Given the description of an element on the screen output the (x, y) to click on. 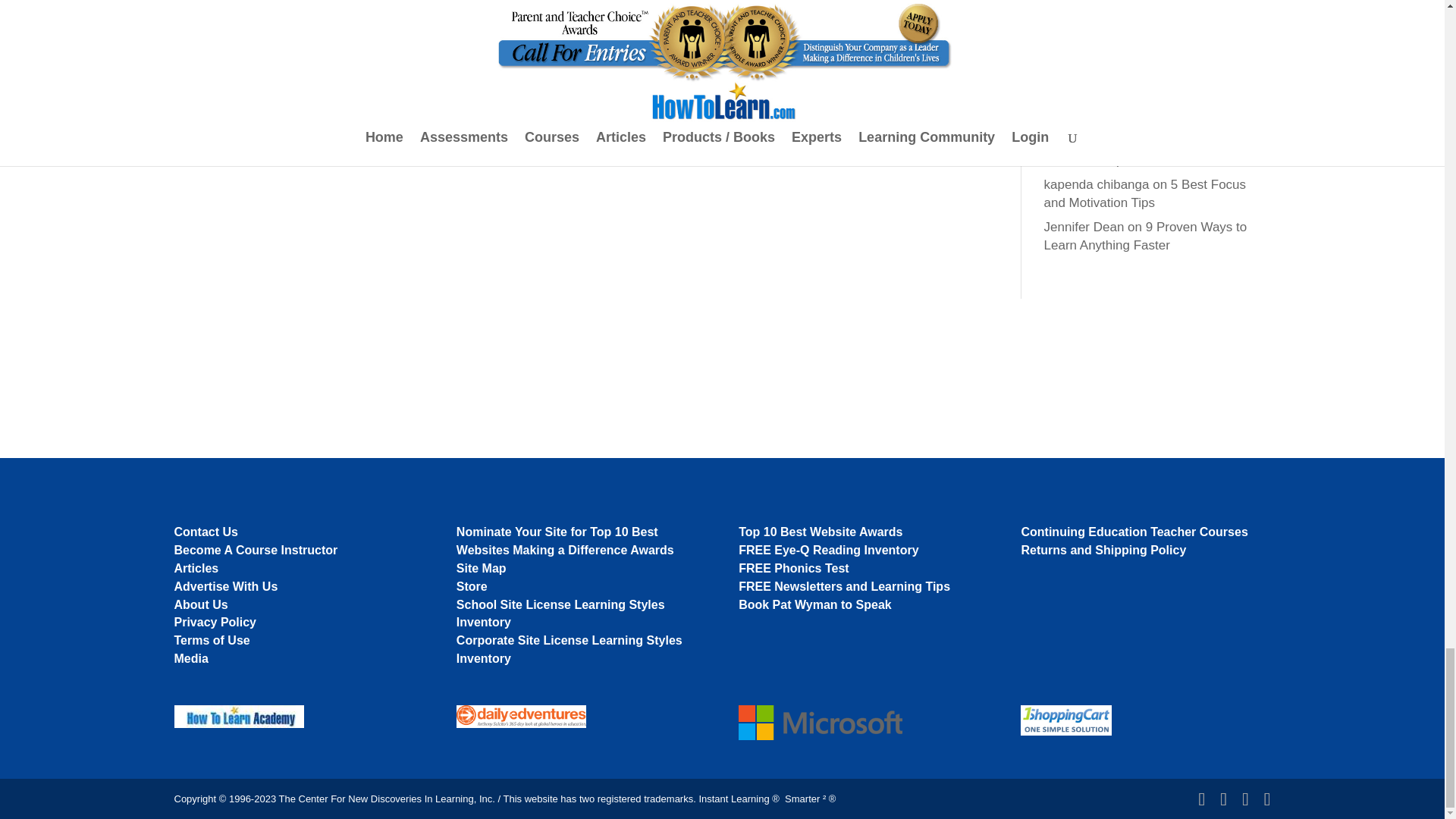
How to Teach Spelling Using Phonics (1138, 65)
Pat Wyman (1076, 142)
5 Best Focus and Motivation Tips (1137, 151)
How to Tell If You Are an Employee or Entrepreneur (1146, 108)
